Given the description of an element on the screen output the (x, y) to click on. 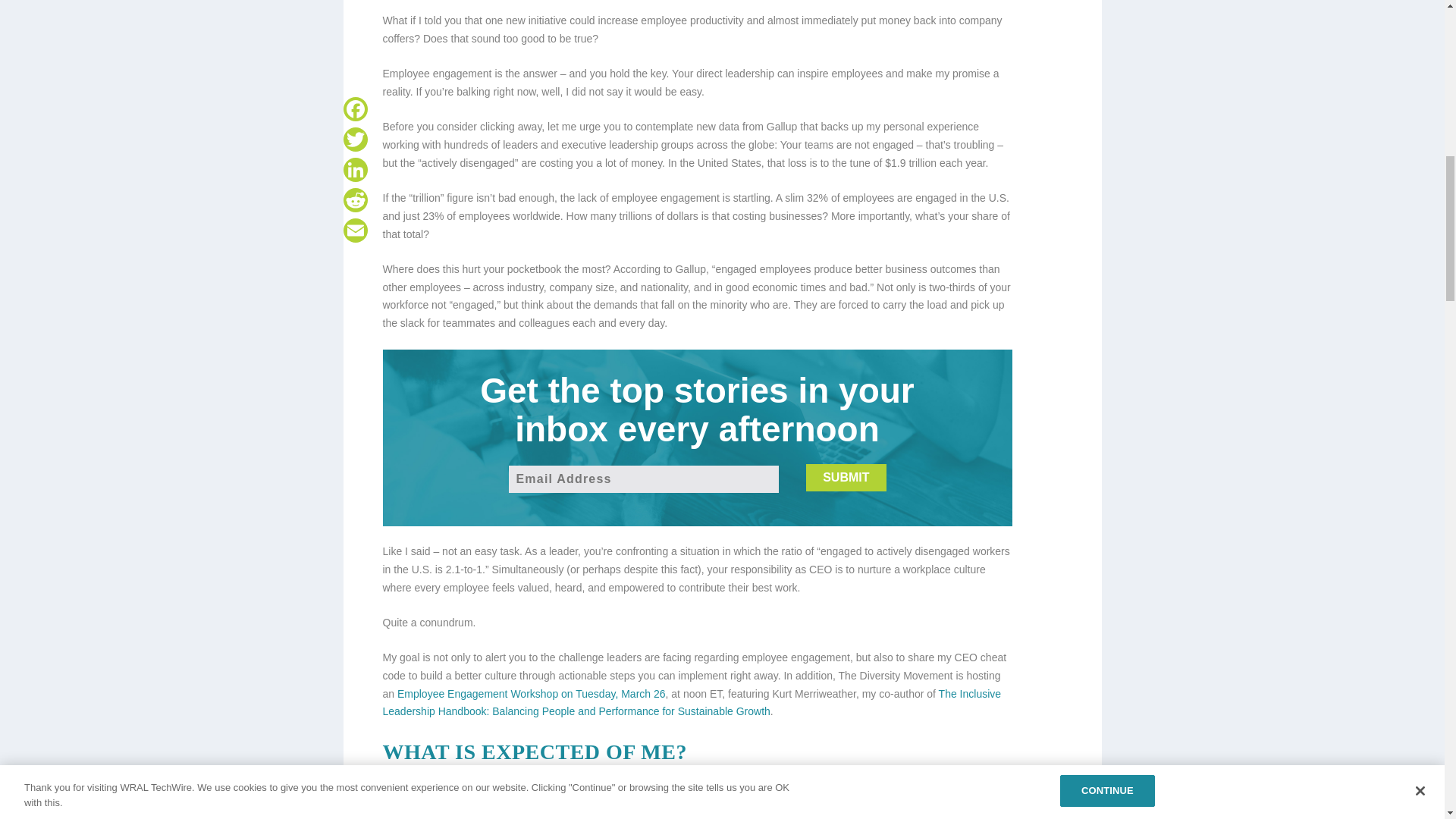
SUBMIT (845, 477)
